Given the description of an element on the screen output the (x, y) to click on. 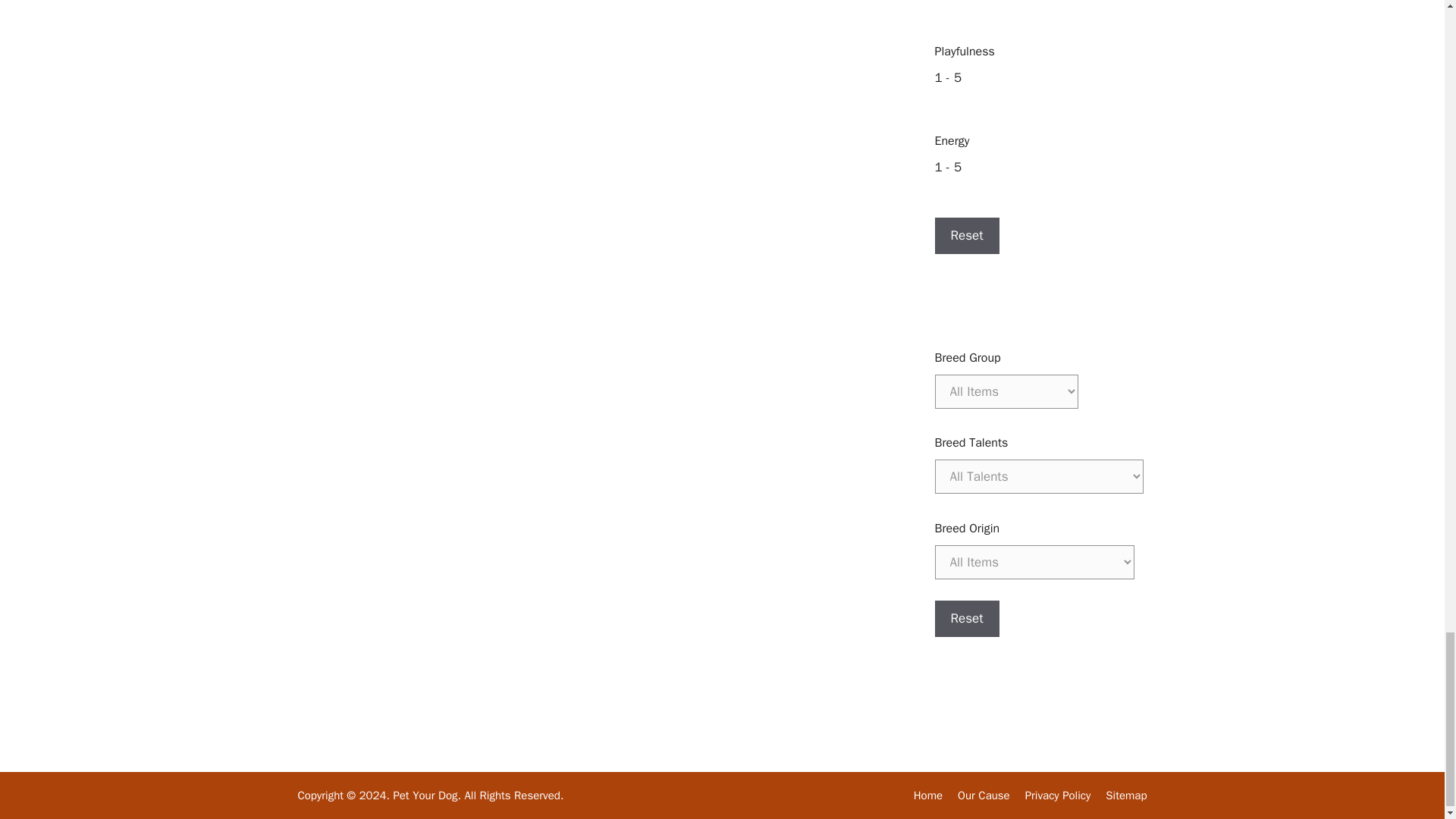
Reset (966, 618)
Reset (966, 235)
Reset (966, 235)
Reset (966, 618)
